Given the description of an element on the screen output the (x, y) to click on. 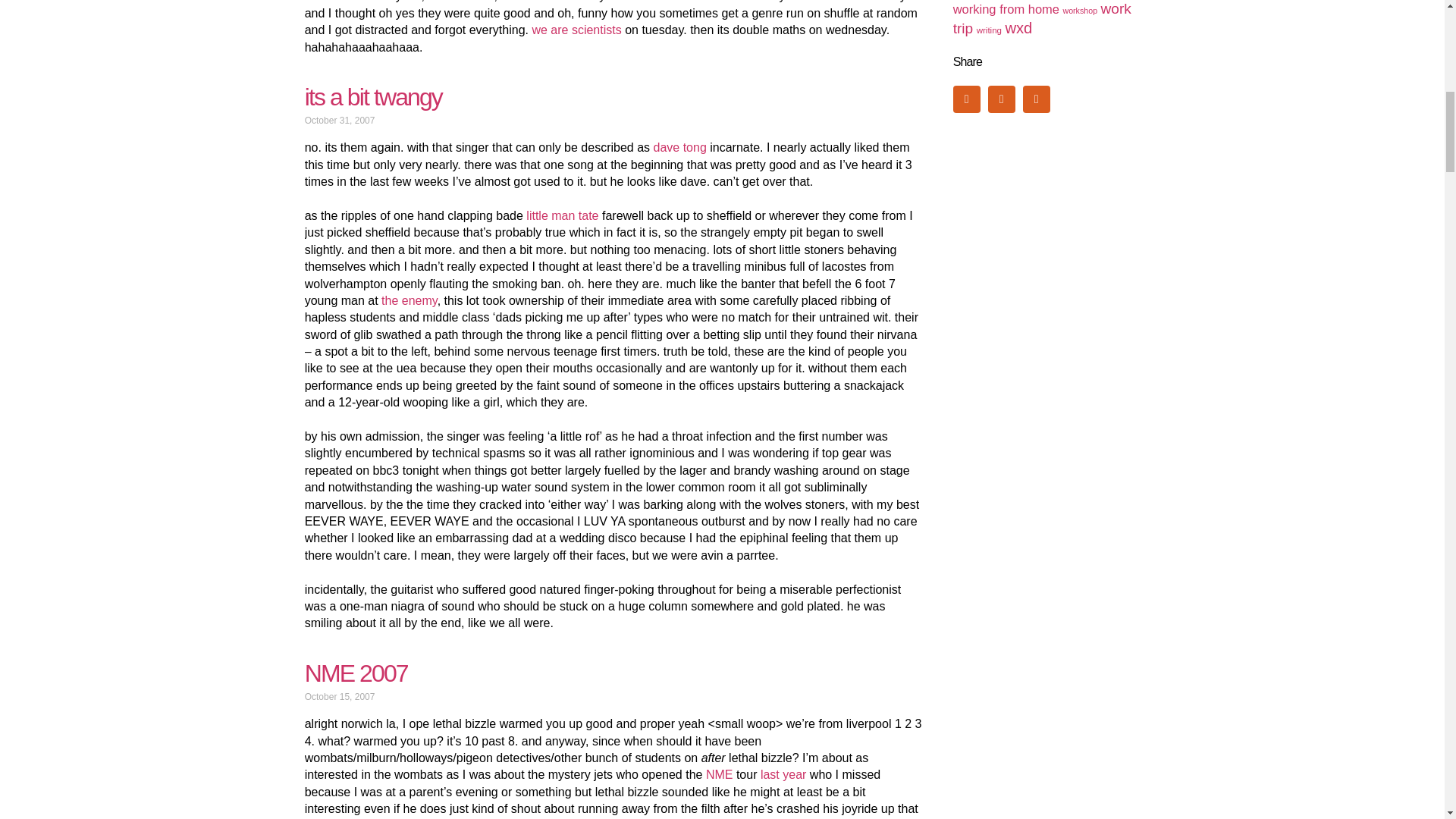
NME (719, 774)
the enemy (409, 300)
NME 2007 (355, 673)
dave tong (679, 146)
little man tate (561, 215)
last year (783, 774)
we are scientists (576, 29)
its a bit twangy (373, 96)
